Given the description of an element on the screen output the (x, y) to click on. 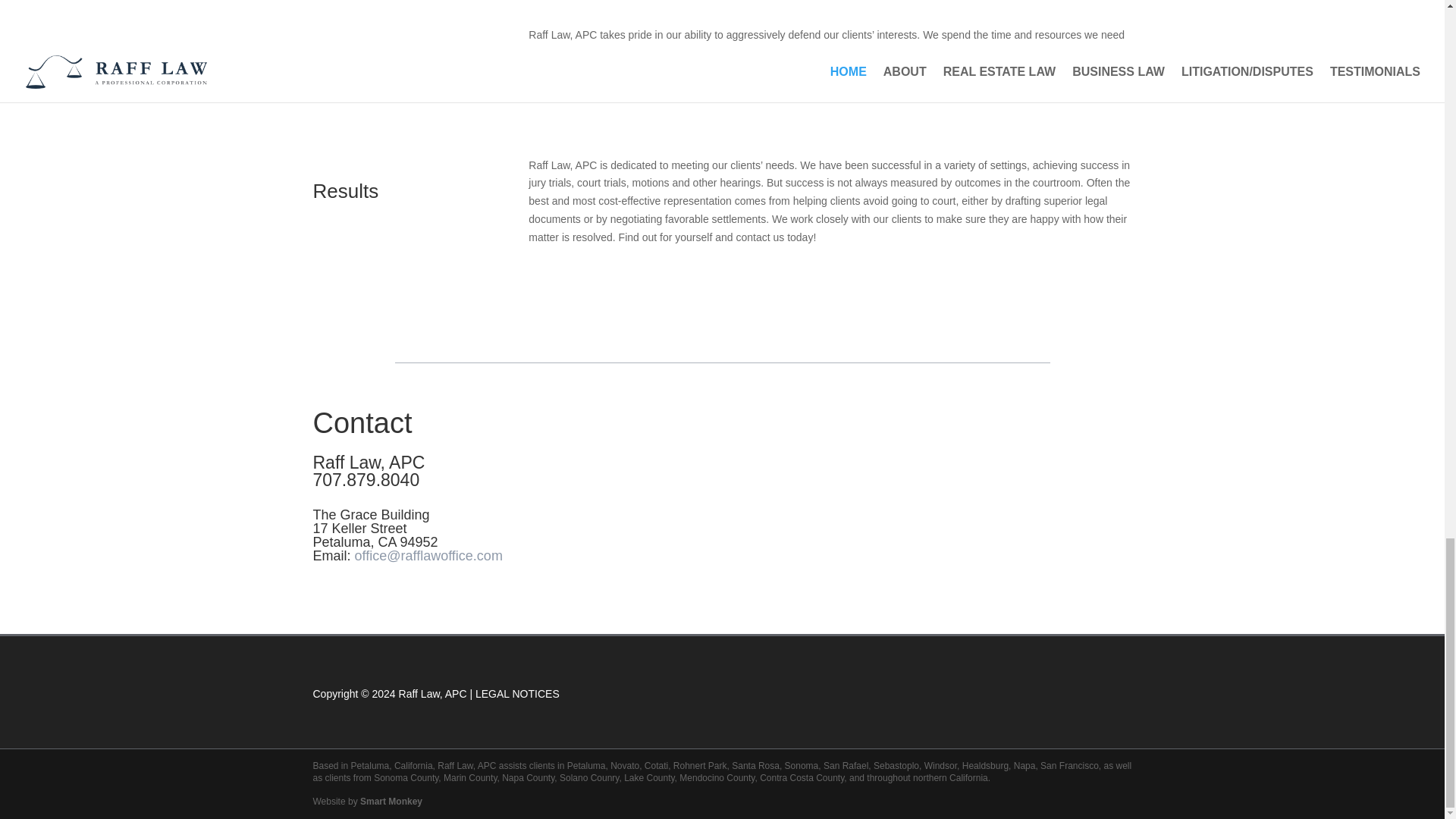
Smart Monkey (390, 801)
LEGAL NOTICES (517, 693)
